Given the description of an element on the screen output the (x, y) to click on. 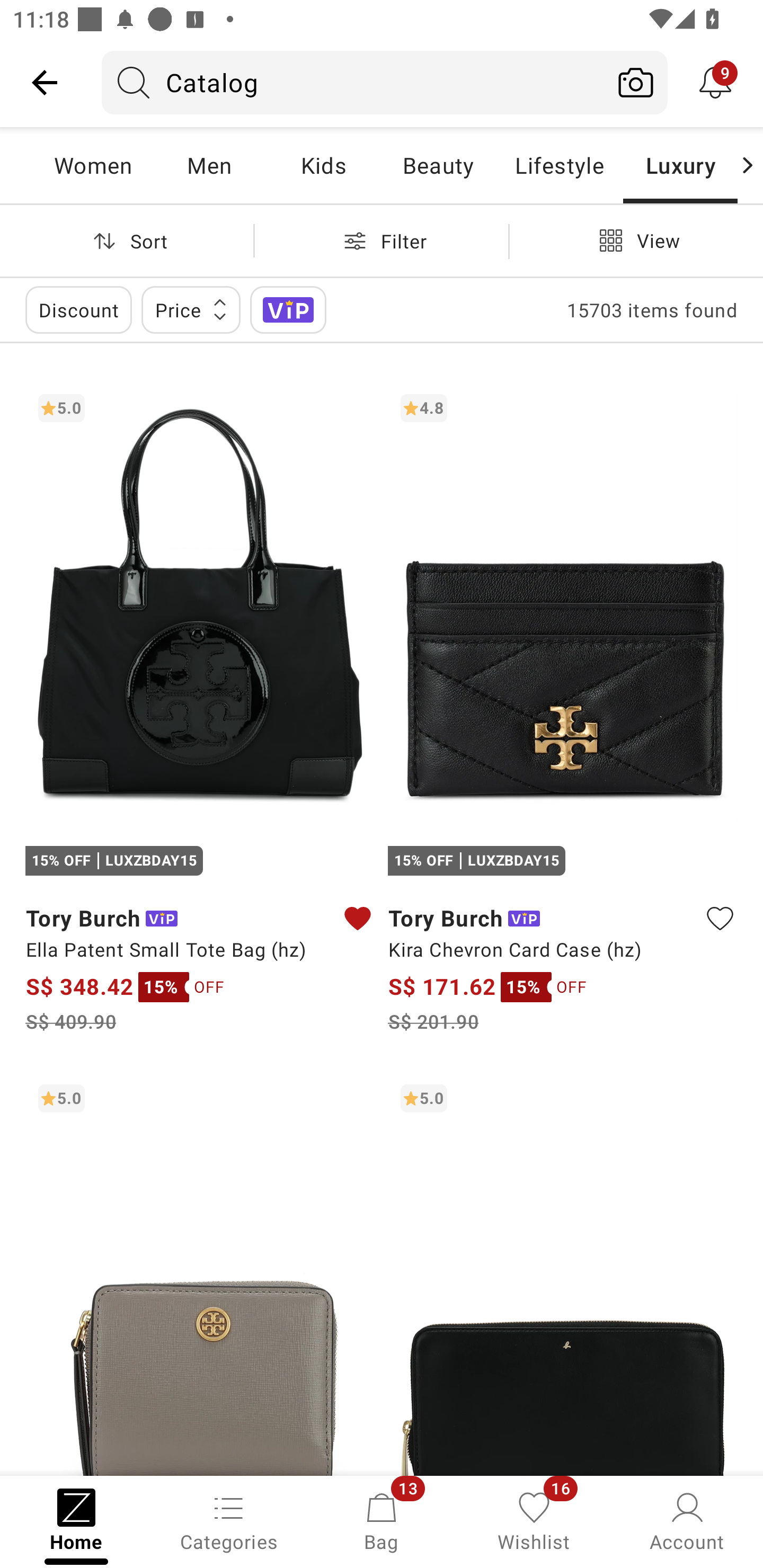
Navigate up (44, 82)
Catalog (352, 82)
Women (92, 165)
Men (208, 165)
Kids (323, 165)
Beauty (437, 165)
Lifestyle (559, 165)
Sort (126, 240)
Filter (381, 240)
View (636, 240)
Discount (78, 309)
Price (190, 309)
5.0 (200, 1272)
5.0 (562, 1272)
Categories (228, 1519)
Bag, 13 new notifications Bag (381, 1519)
Wishlist, 16 new notifications Wishlist (533, 1519)
Account (686, 1519)
